Given the description of an element on the screen output the (x, y) to click on. 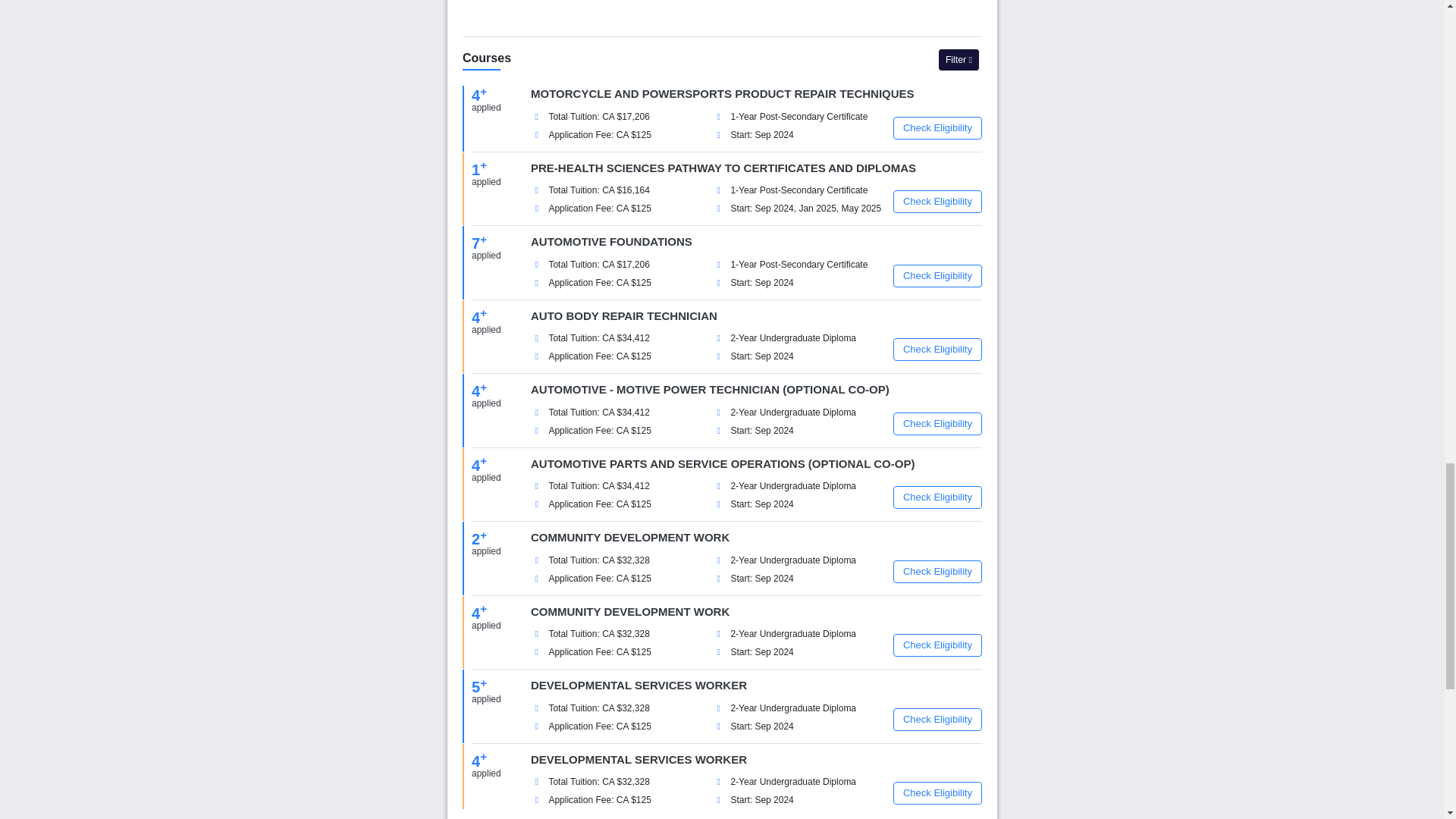
PRE-HEALTH SCIENCES PATHWAY TO CERTIFICATES AND DIPLOMAS (723, 166)
MOTORCYCLE AND POWERSPORTS PRODUCT REPAIR TECHNIQUES (722, 92)
AUTOMOTIVE FOUNDATIONS (612, 241)
Check Eligibility (937, 201)
Check Eligibility (937, 349)
AUTOMOTIVE FOUNDATIONS (612, 241)
MOTORCYCLE AND POWERSPORTS PRODUCT REPAIR TECHNIQUES (722, 92)
AUTO BODY REPAIR TECHNICIAN (624, 315)
Check Eligibility (937, 497)
Check Eligibility (937, 128)
